Given the description of an element on the screen output the (x, y) to click on. 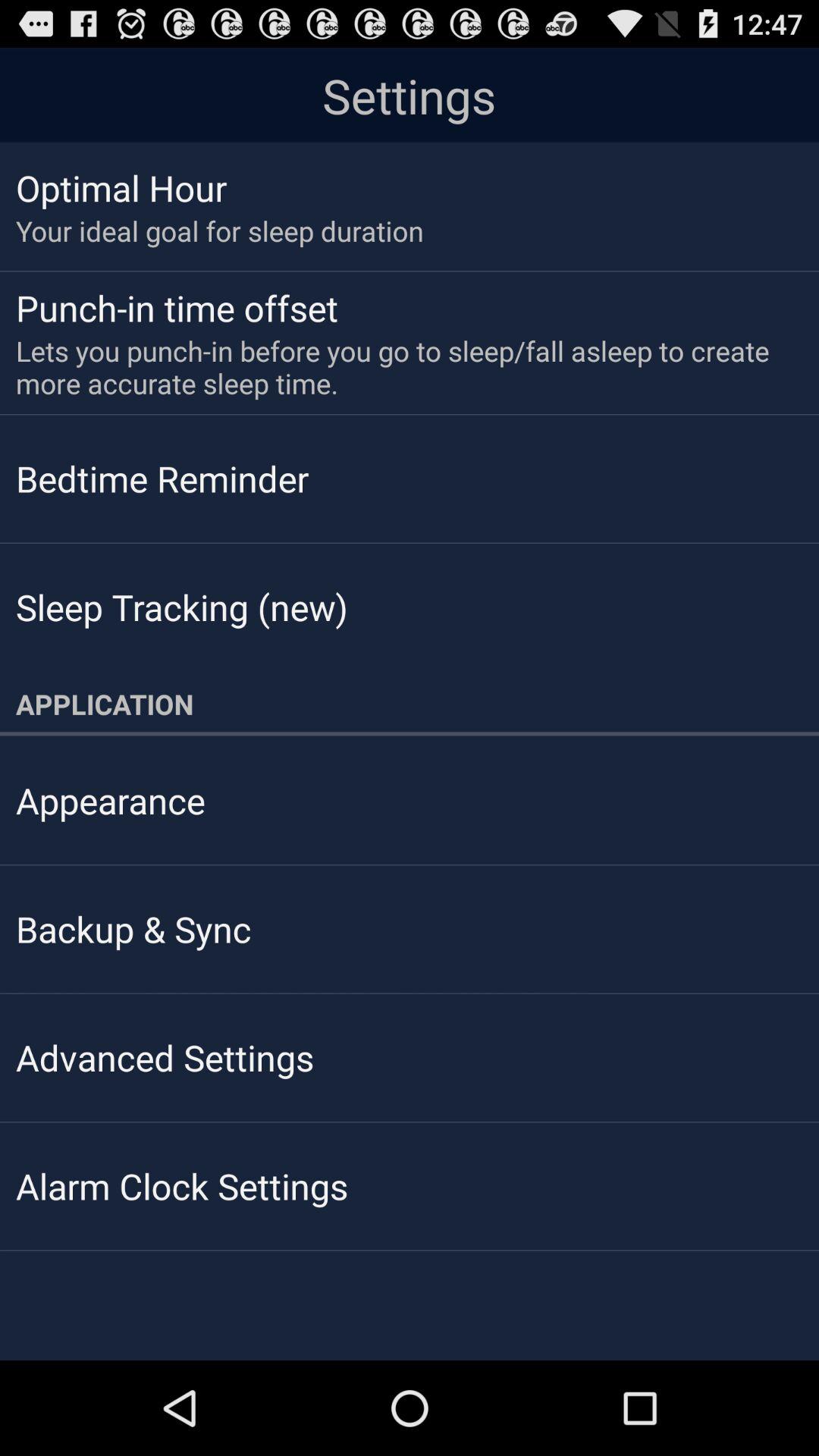
tap the icon above the bedtime reminder app (399, 367)
